Given the description of an element on the screen output the (x, y) to click on. 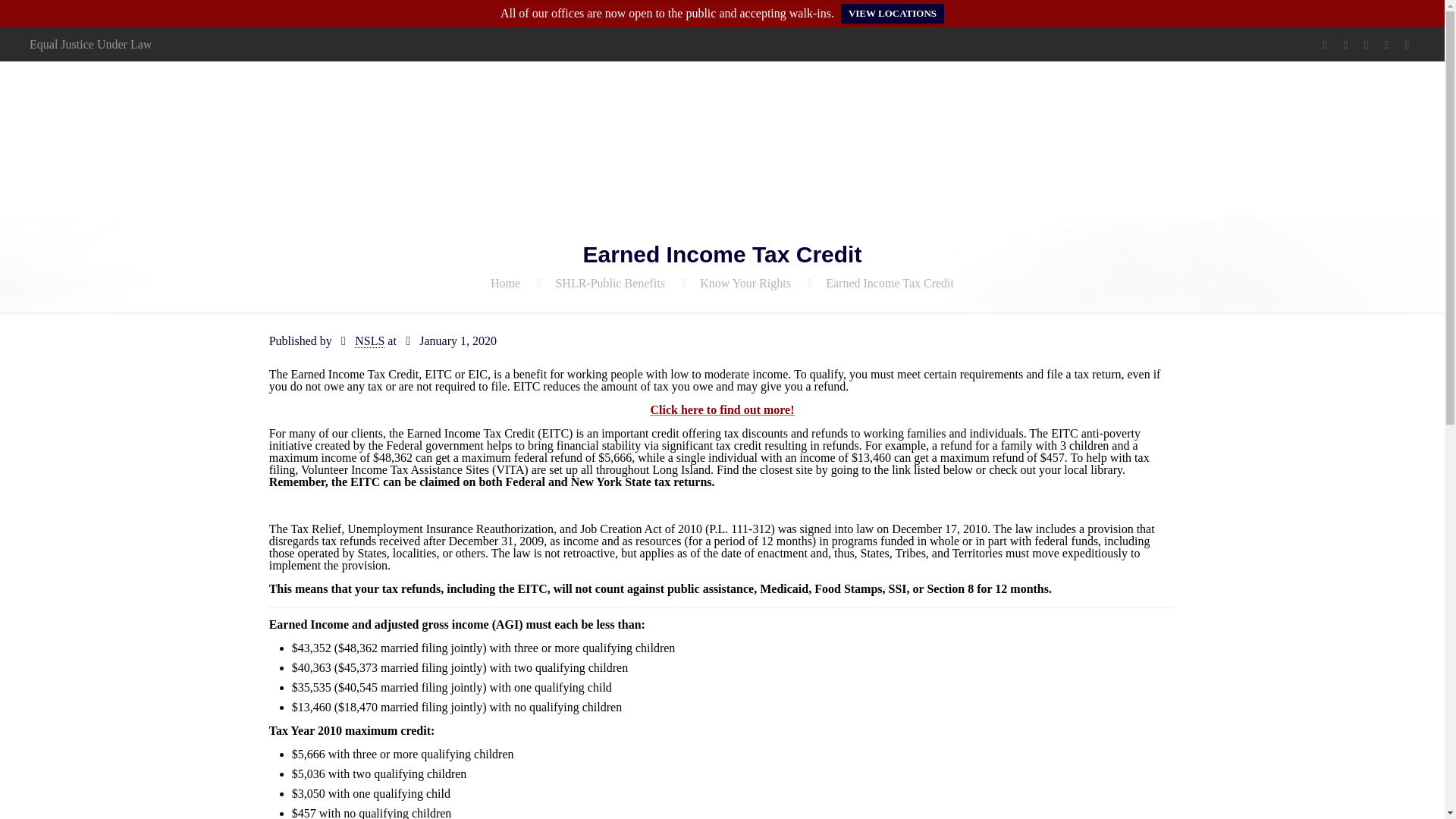
Earned Income Tax Credit (889, 282)
Know Your Rights (745, 282)
YouTube (1366, 44)
VIEW LOCATIONS (892, 13)
NSLS (369, 341)
LinkedIn (1386, 44)
Facebook (1325, 44)
Click here to find out more! (721, 409)
SHLR-Public Benefits (608, 282)
Twitter (1346, 44)
